Given the description of an element on the screen output the (x, y) to click on. 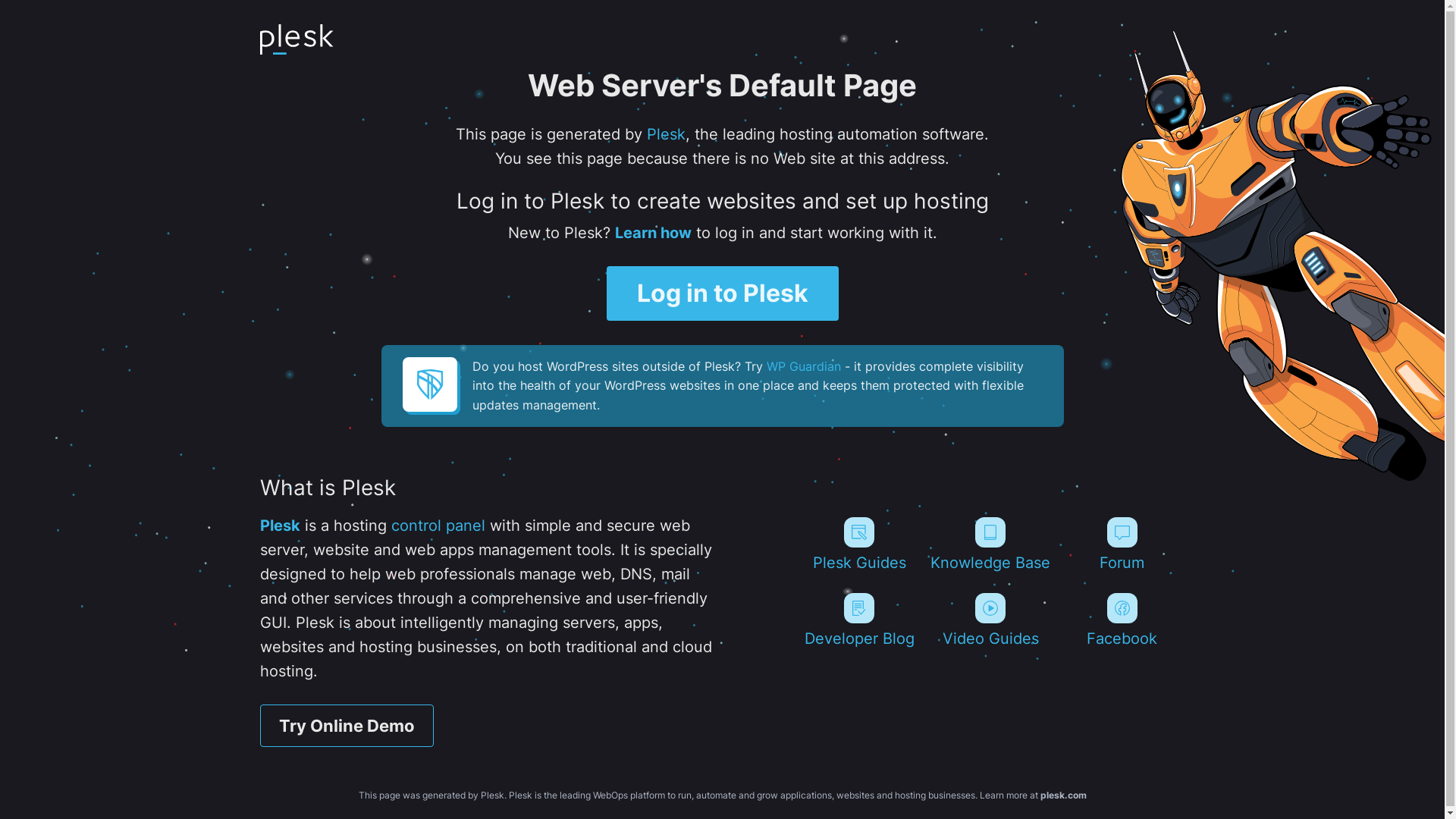
Try Online Demo Element type: text (346, 725)
Knowledge Base Element type: text (990, 544)
Learn how Element type: text (652, 232)
Log in to Plesk Element type: text (722, 293)
Plesk Element type: text (279, 525)
Video Guides Element type: text (990, 620)
WP Guardian Element type: text (802, 365)
control panel Element type: text (438, 525)
Forum Element type: text (1121, 544)
Developer Blog Element type: text (858, 620)
Plesk Guides Element type: text (858, 544)
plesk.com Element type: text (1063, 794)
Facebook Element type: text (1121, 620)
Plesk Element type: text (665, 134)
